Given the description of an element on the screen output the (x, y) to click on. 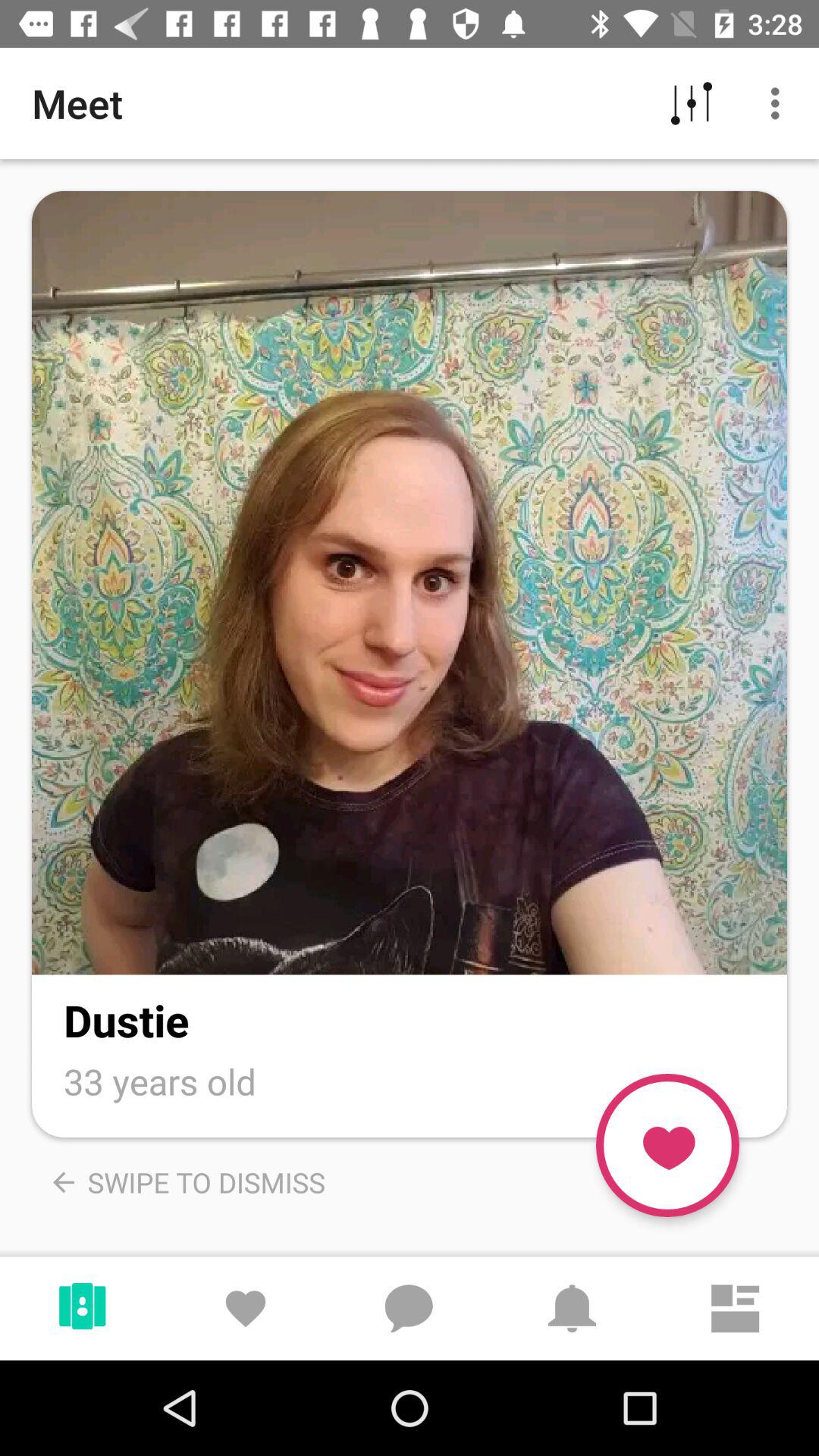
turn off the icon above dustie (409, 582)
